Given the description of an element on the screen output the (x, y) to click on. 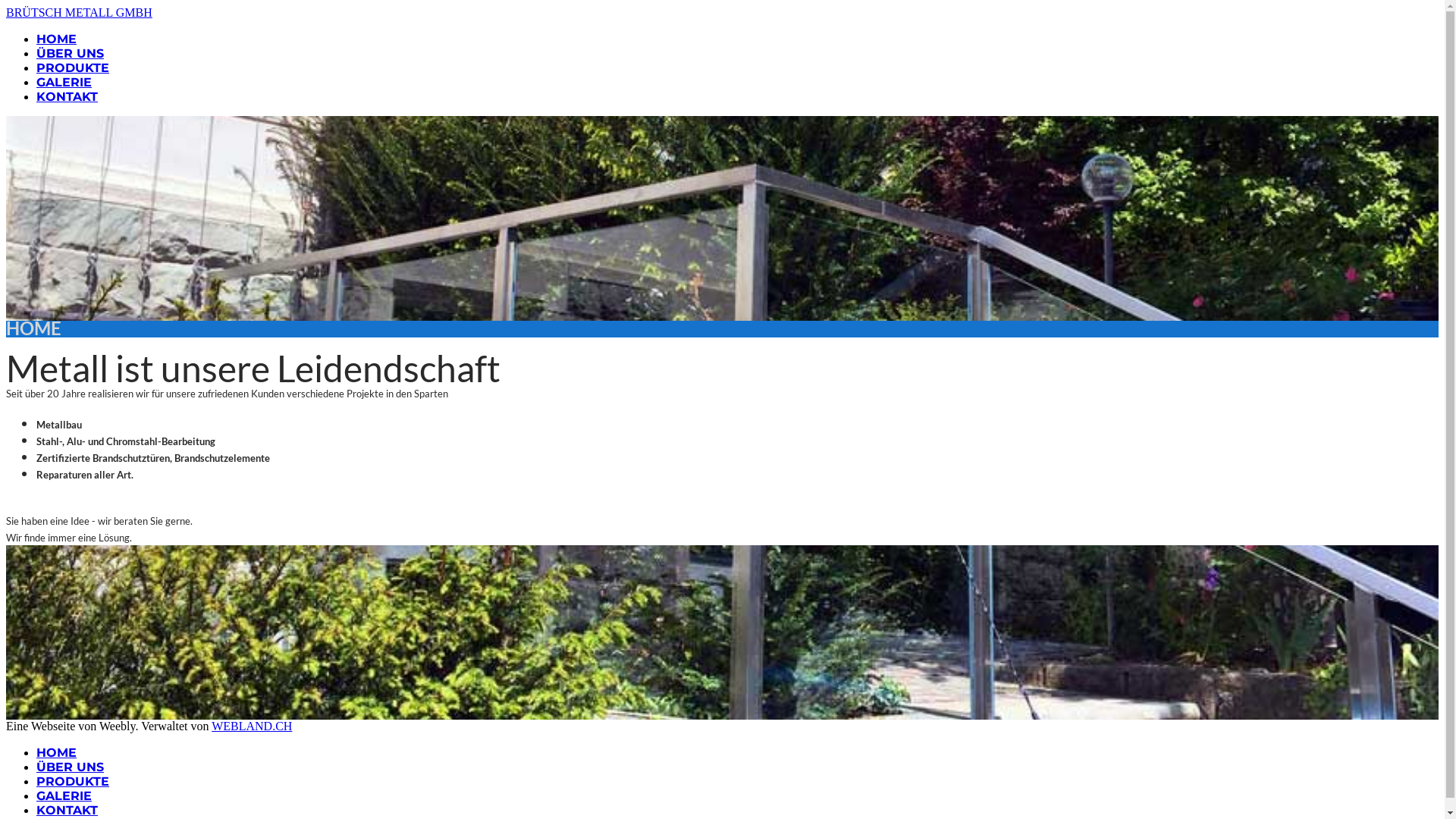
PRODUKTE Element type: text (72, 67)
KONTAKT Element type: text (66, 96)
GALERIE Element type: text (63, 795)
HOME Element type: text (56, 752)
WEBLAND.CH Element type: text (251, 725)
GALERIE Element type: text (63, 82)
HOME Element type: text (56, 38)
PRODUKTE Element type: text (72, 781)
KONTAKT Element type: text (66, 810)
